Given the description of an element on the screen output the (x, y) to click on. 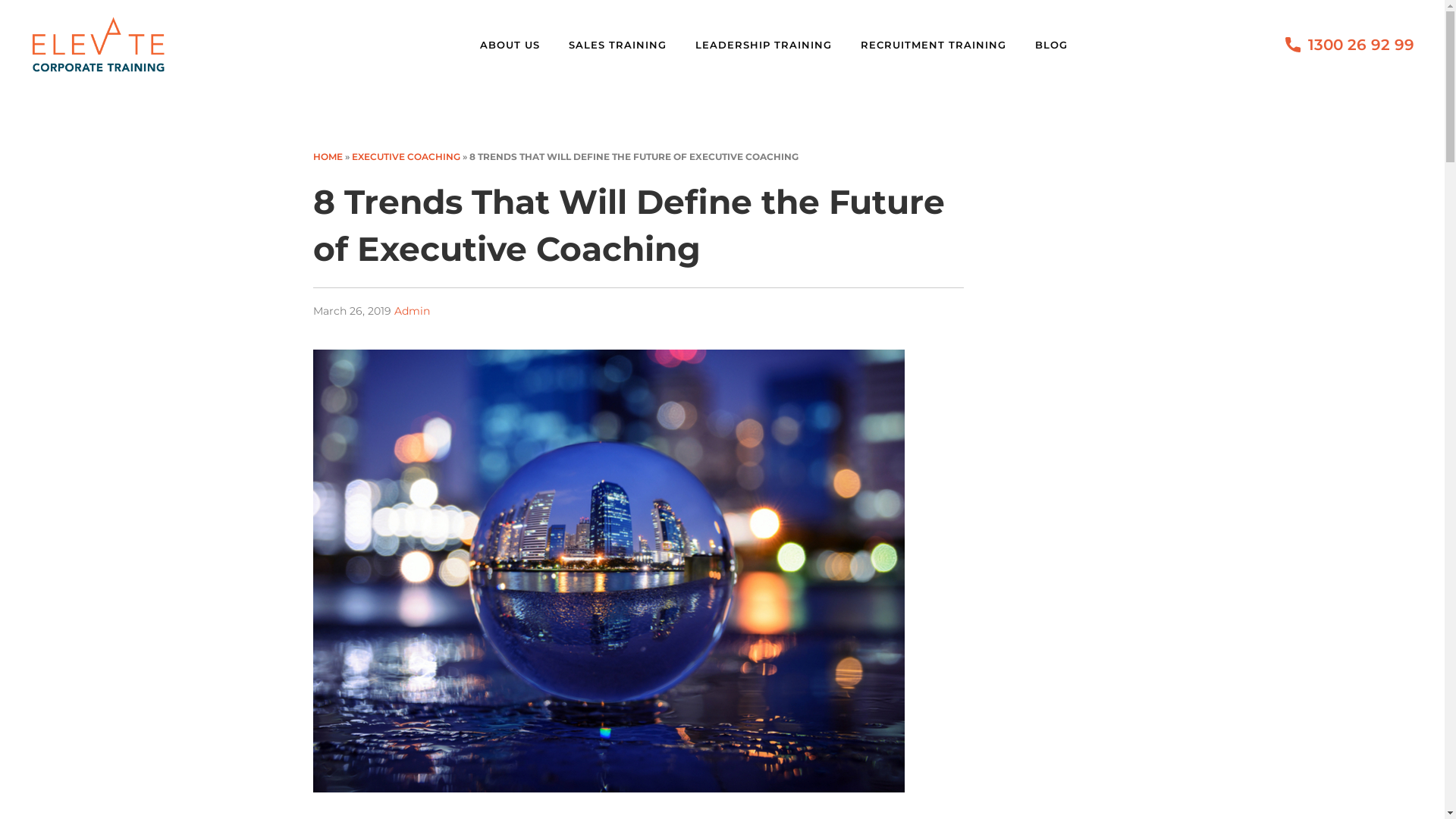
EXECUTIVE COACHING Element type: text (405, 156)
RECRUITMENT TRAINING Element type: text (941, 44)
SALES TRAINING Element type: text (625, 44)
1300 26 92 99 Element type: text (1361, 44)
BLOG Element type: text (1059, 44)
HOME Element type: text (327, 156)
LEADERSHIP TRAINING Element type: text (771, 44)
ABOUT US Element type: text (517, 44)
